Given the description of an element on the screen output the (x, y) to click on. 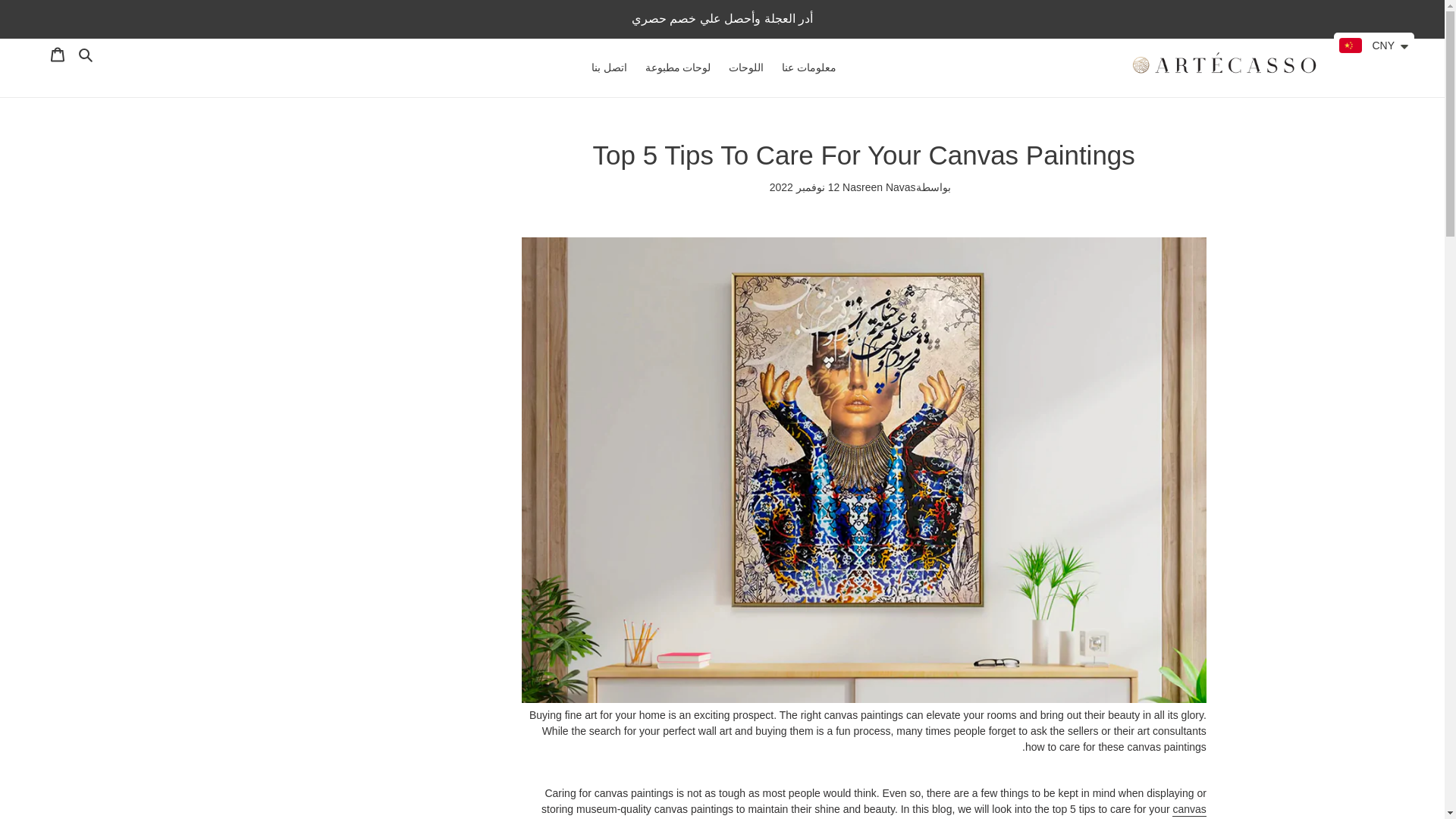
canvas paintings (1090, 811)
